Given the description of an element on the screen output the (x, y) to click on. 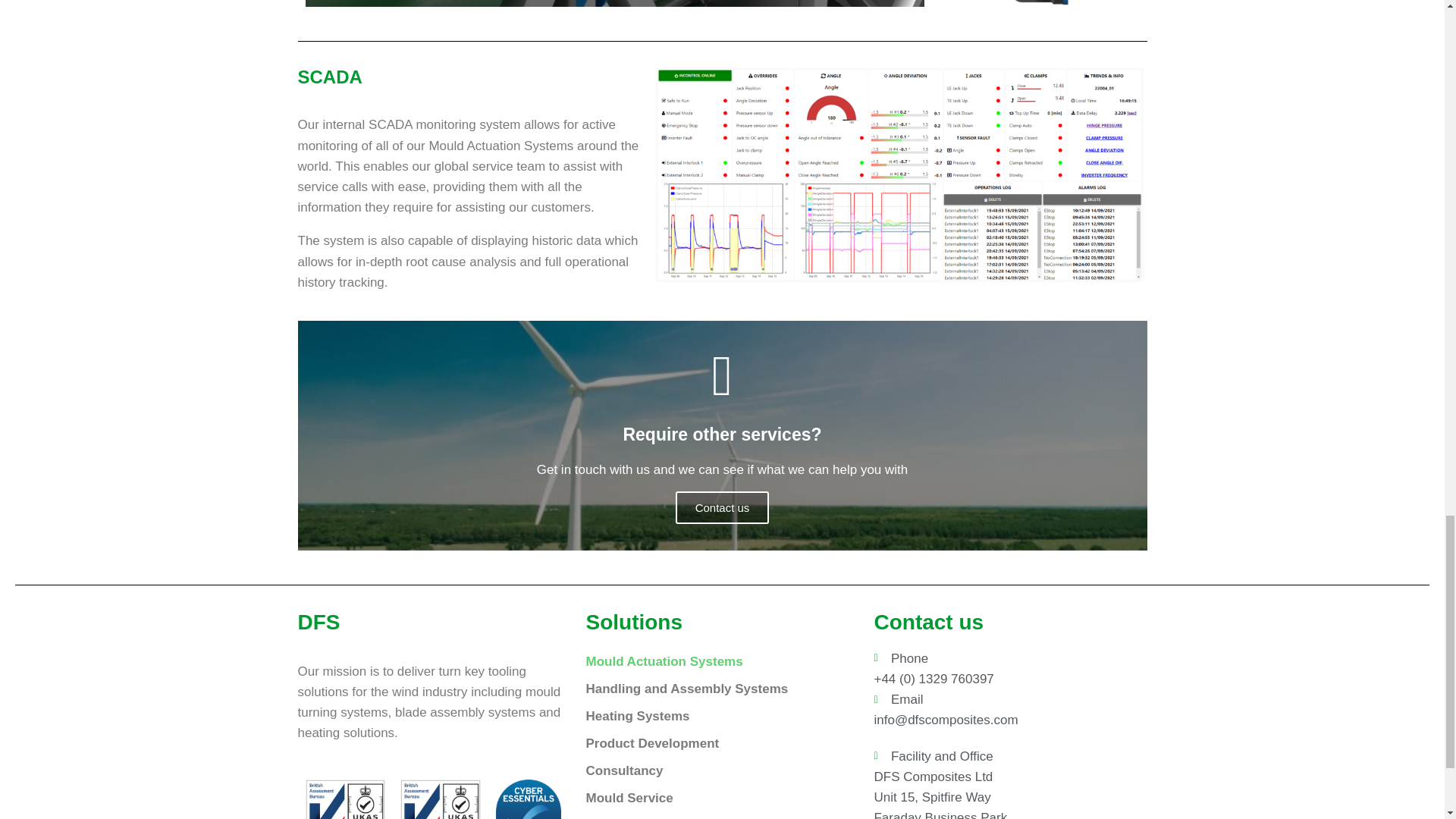
Contact us (722, 507)
Handling and Assembly Systems (714, 688)
Product Development (714, 743)
Mould Service (714, 798)
Mould Actuation Systems (714, 661)
Heating Systems (714, 716)
Consultancy (714, 770)
